Given the description of an element on the screen output the (x, y) to click on. 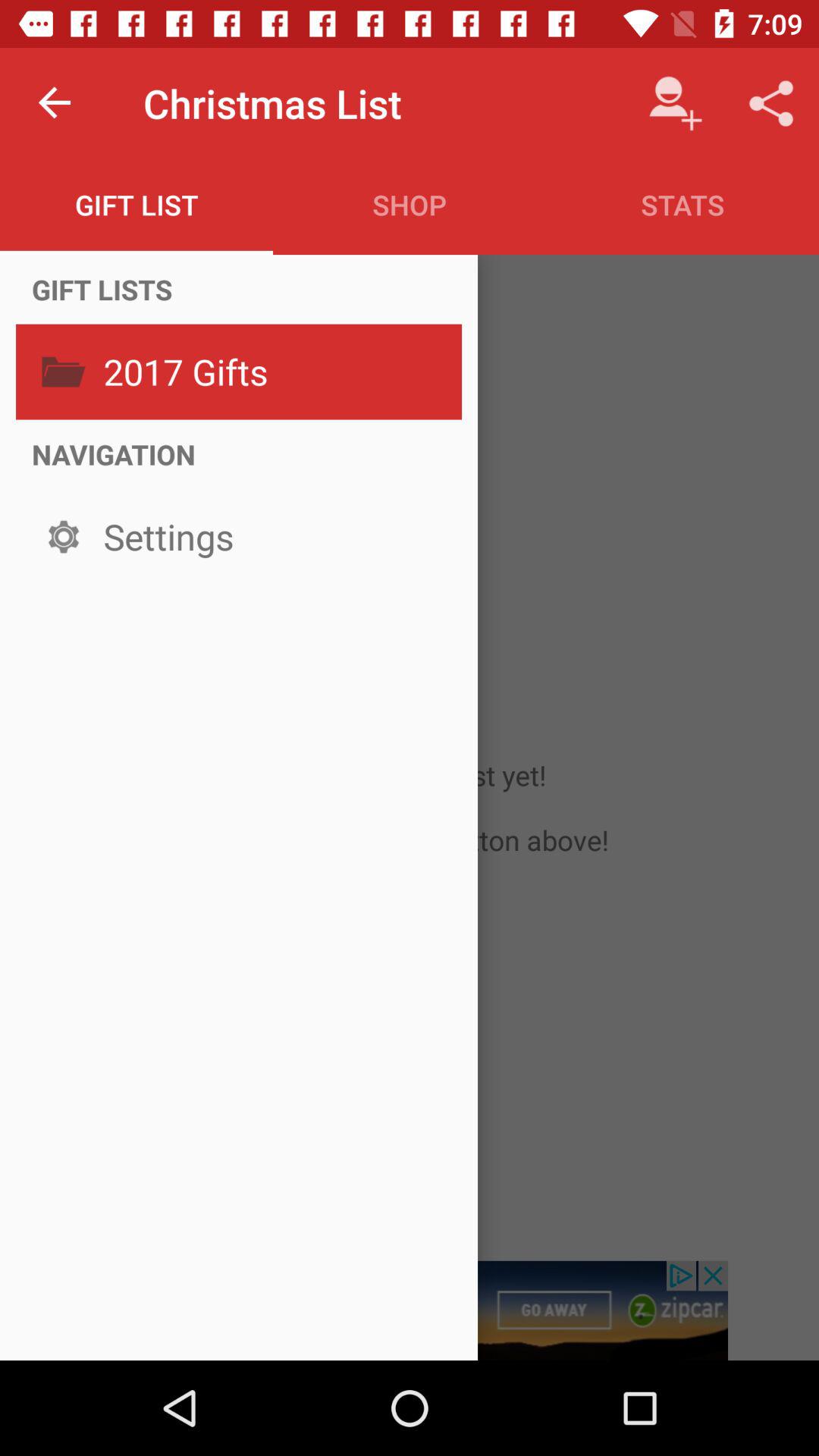
launch icon above the stats (675, 103)
